Given the description of an element on the screen output the (x, y) to click on. 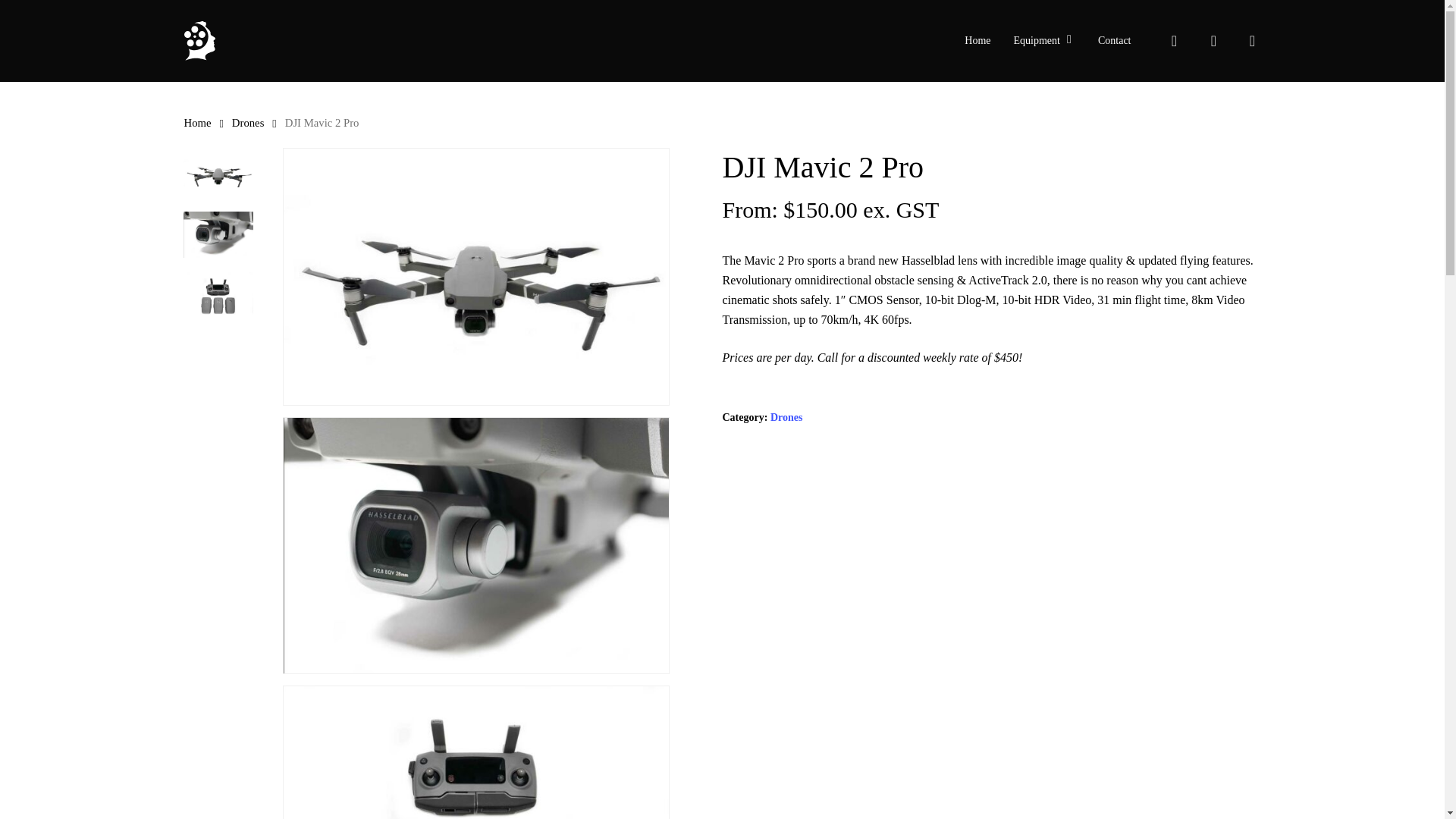
Equipment (1044, 41)
Contact (1114, 40)
search (1173, 41)
Home (977, 40)
a1 (475, 276)
account (1213, 41)
